Given the description of an element on the screen output the (x, y) to click on. 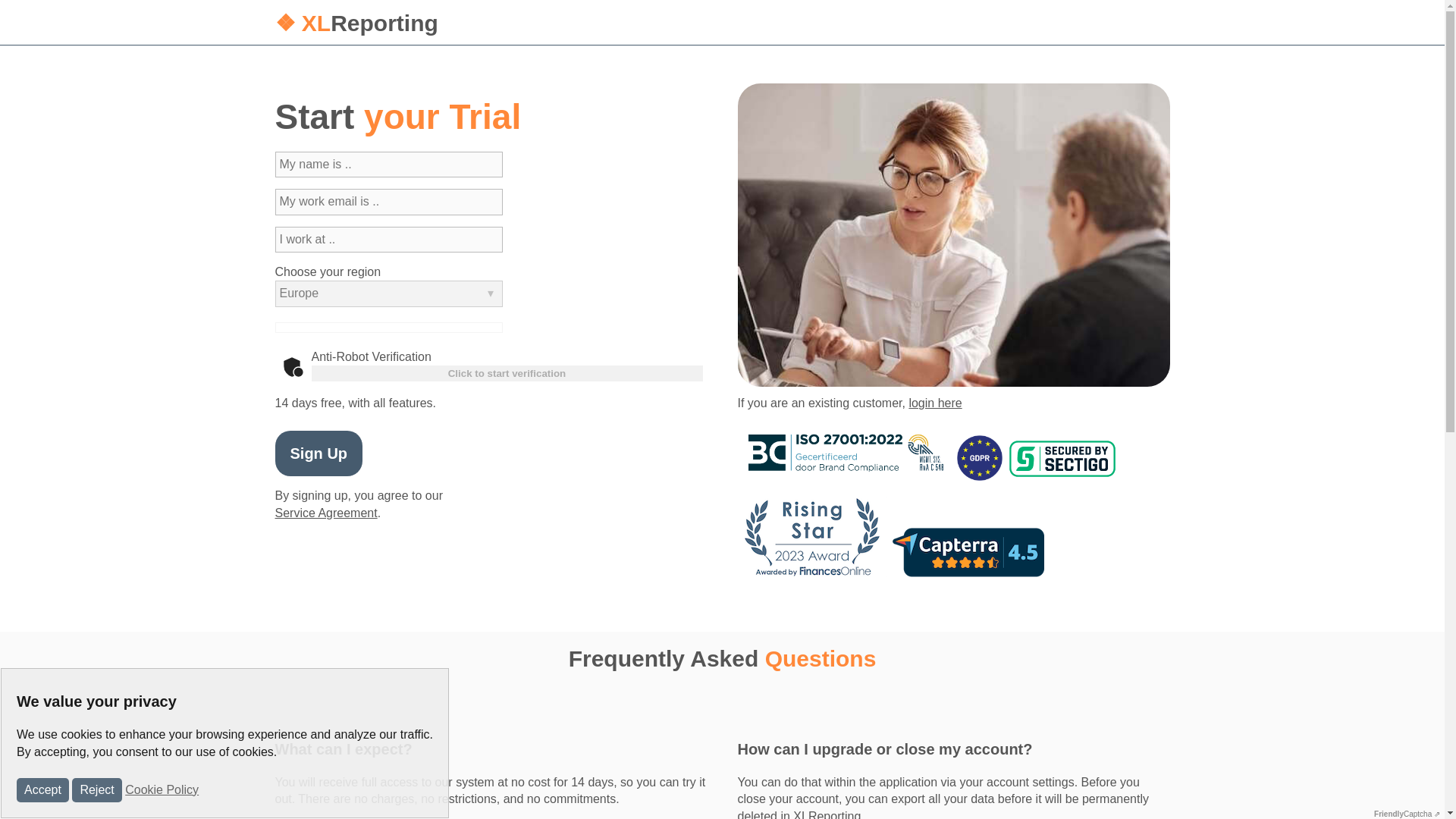
Service Agreement (326, 512)
Click to start verification (506, 373)
Cookie Policy (161, 789)
Sign Up (318, 452)
login here (934, 402)
Accept (42, 790)
Reject (95, 790)
